Given the description of an element on the screen output the (x, y) to click on. 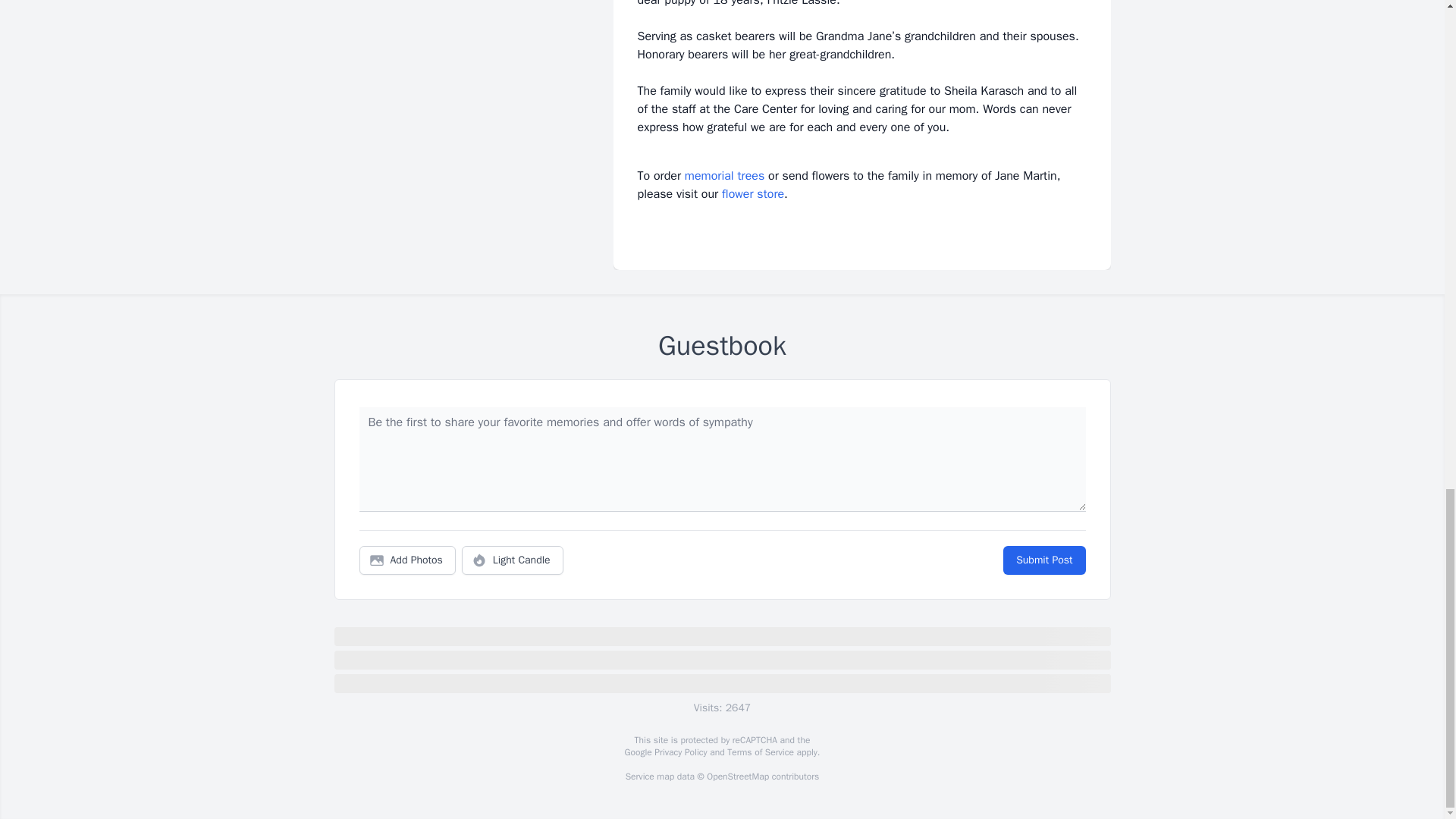
Privacy Policy (679, 752)
flower store (753, 193)
Light Candle (512, 560)
Add Photos (407, 560)
memorial trees (724, 175)
Submit Post (1043, 560)
Terms of Service (759, 752)
OpenStreetMap (737, 776)
